Given the description of an element on the screen output the (x, y) to click on. 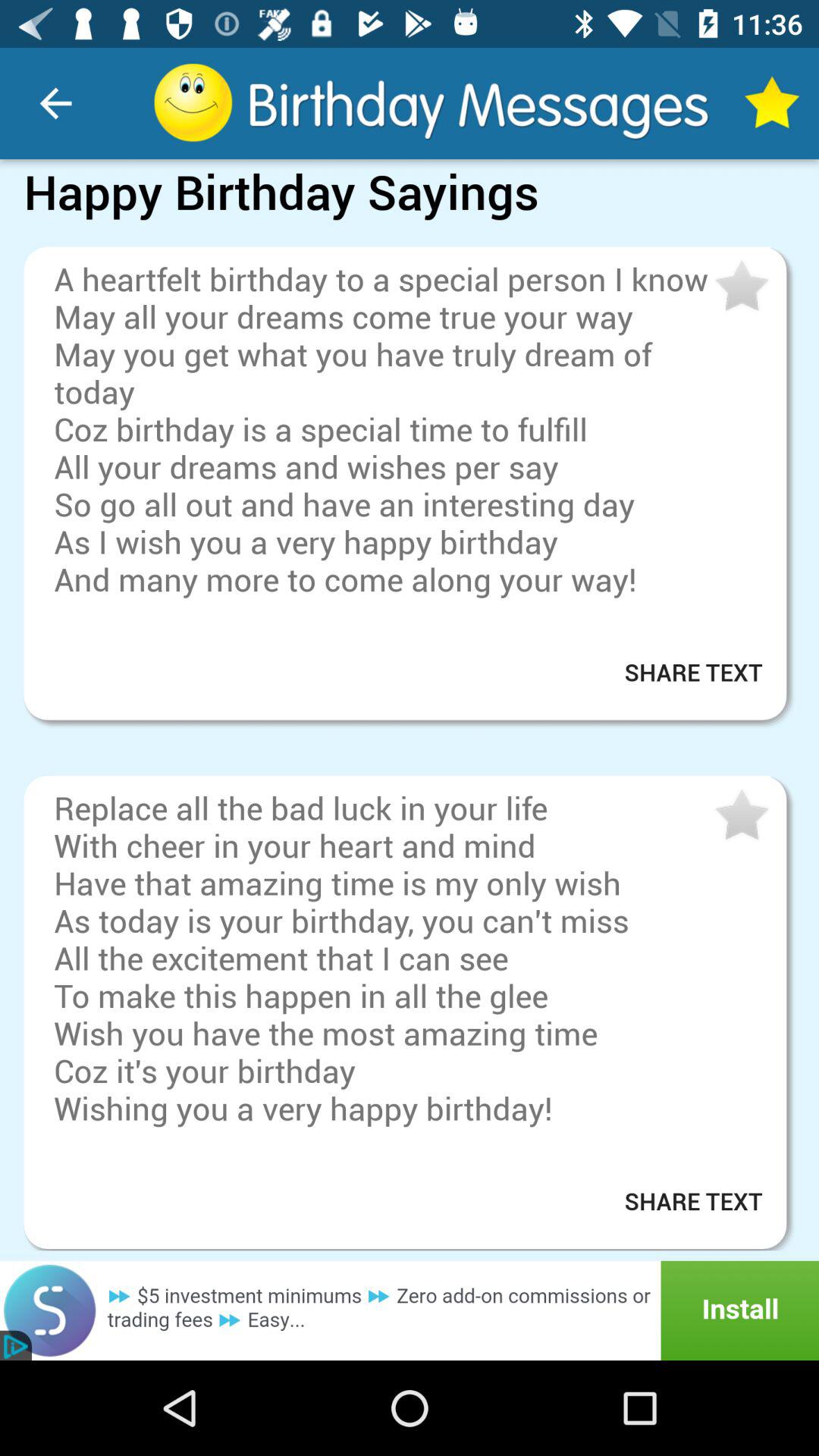
place the quote as your favorite (740, 286)
